Given the description of an element on the screen output the (x, y) to click on. 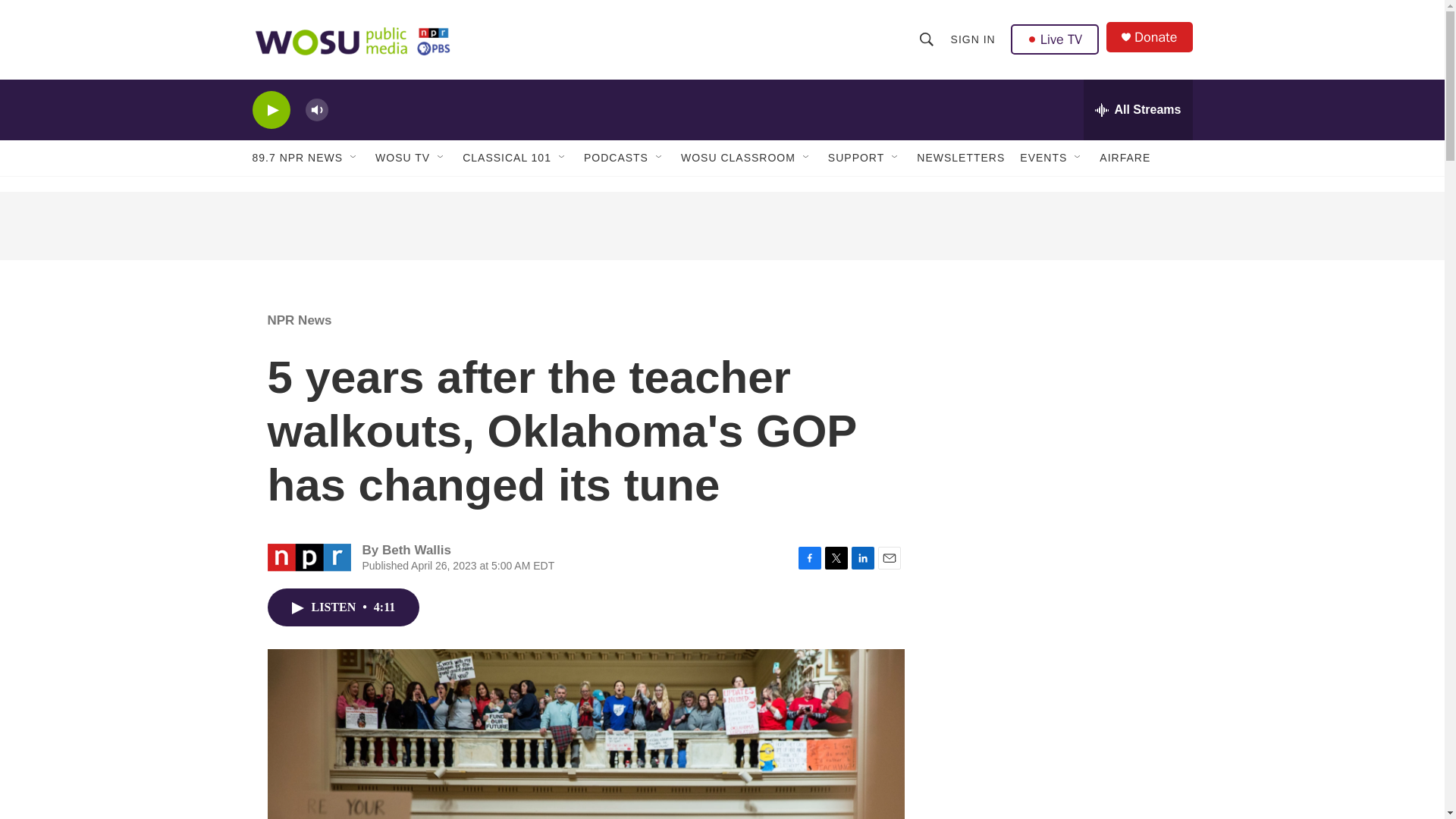
3rd party ad content (1062, 619)
3rd party ad content (721, 225)
3rd party ad content (1062, 400)
